Given the description of an element on the screen output the (x, y) to click on. 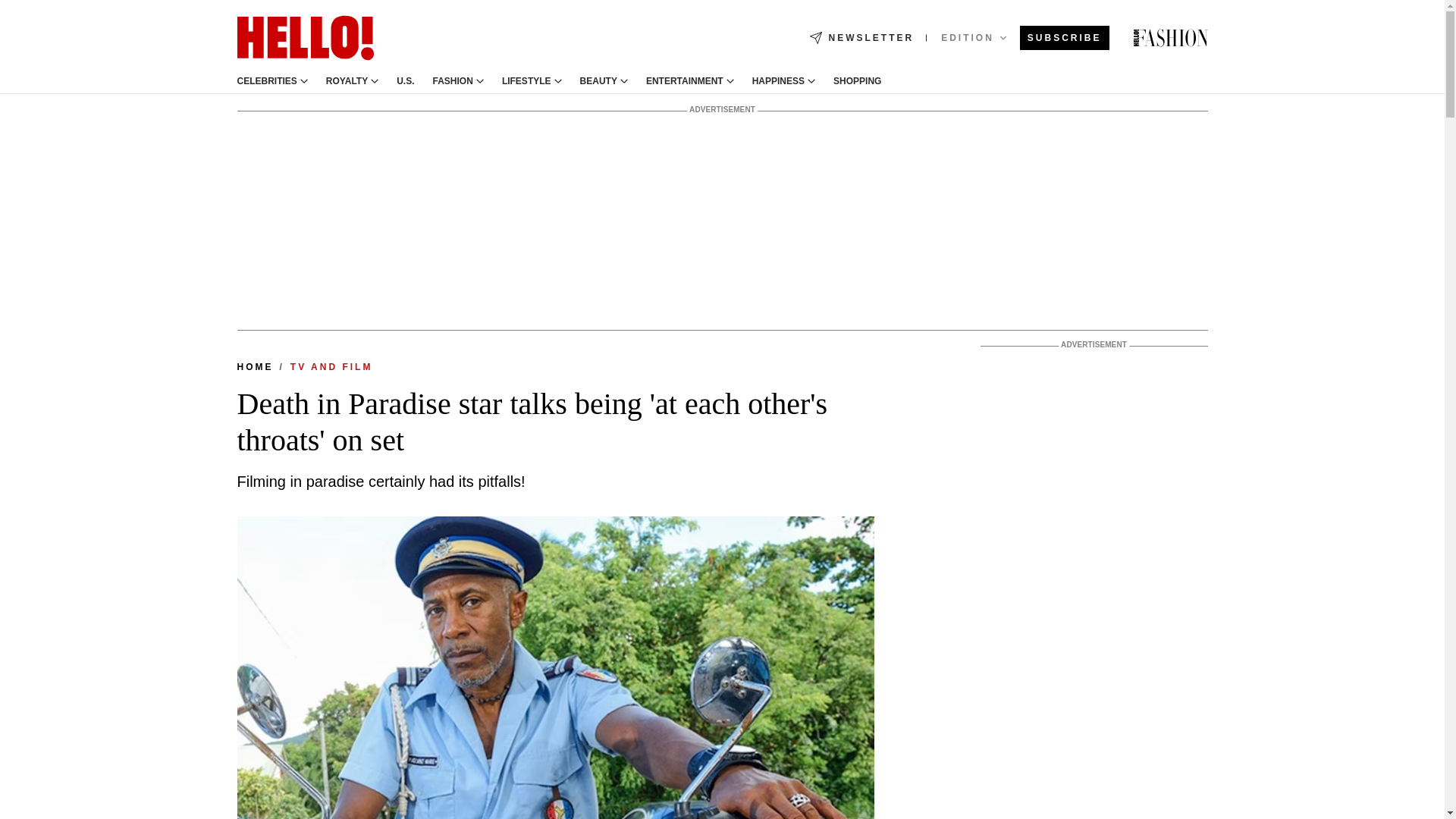
FASHION (452, 81)
U.S. (404, 81)
NEWSLETTER (861, 38)
CELEBRITIES (266, 81)
BEAUTY (598, 81)
ROYALTY (347, 81)
